Given the description of an element on the screen output the (x, y) to click on. 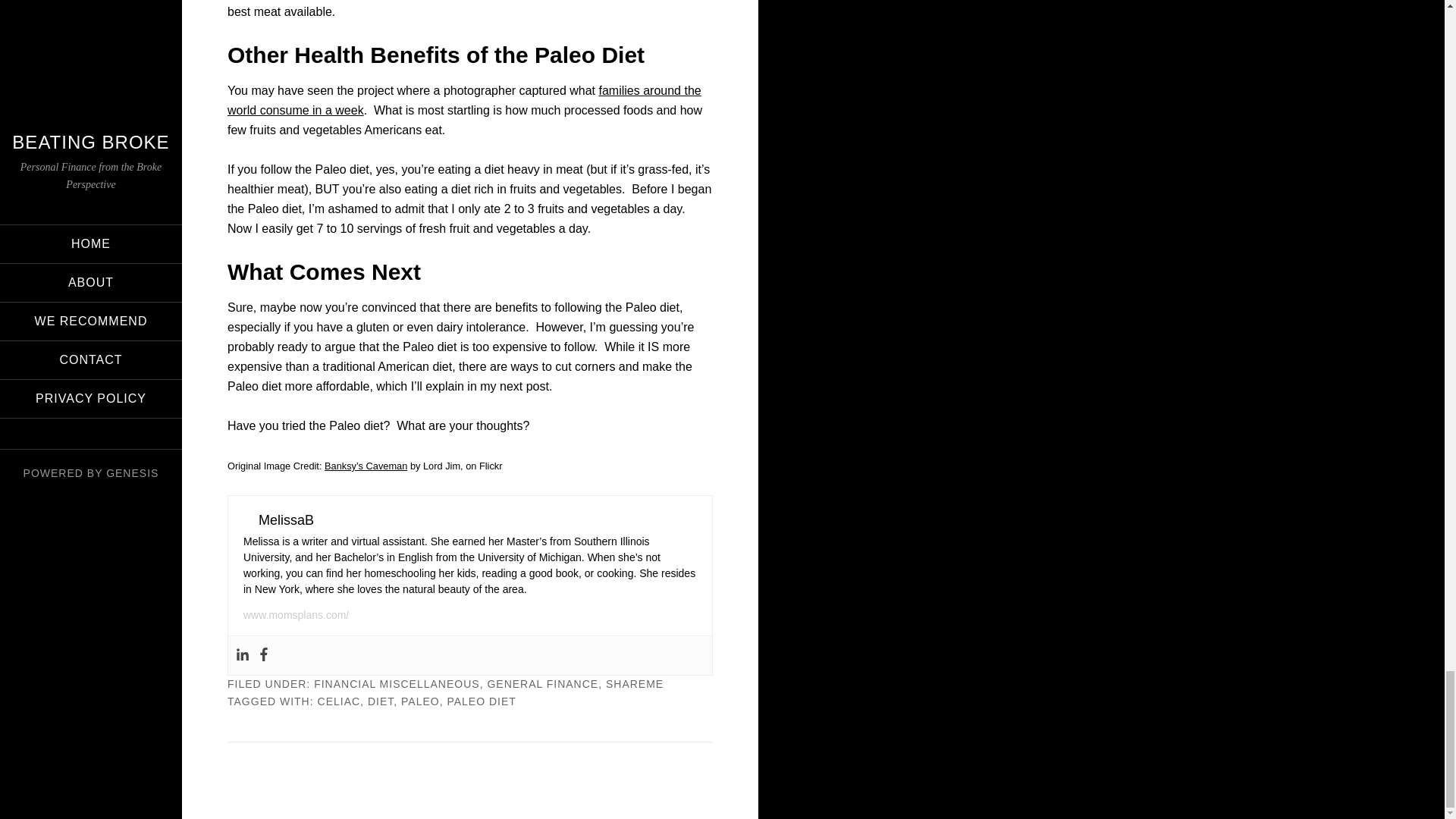
families around the world consume in a week (464, 100)
MelissaB (286, 519)
Banksy's caveman by Lord Jim, on Flickr (365, 465)
